Given the description of an element on the screen output the (x, y) to click on. 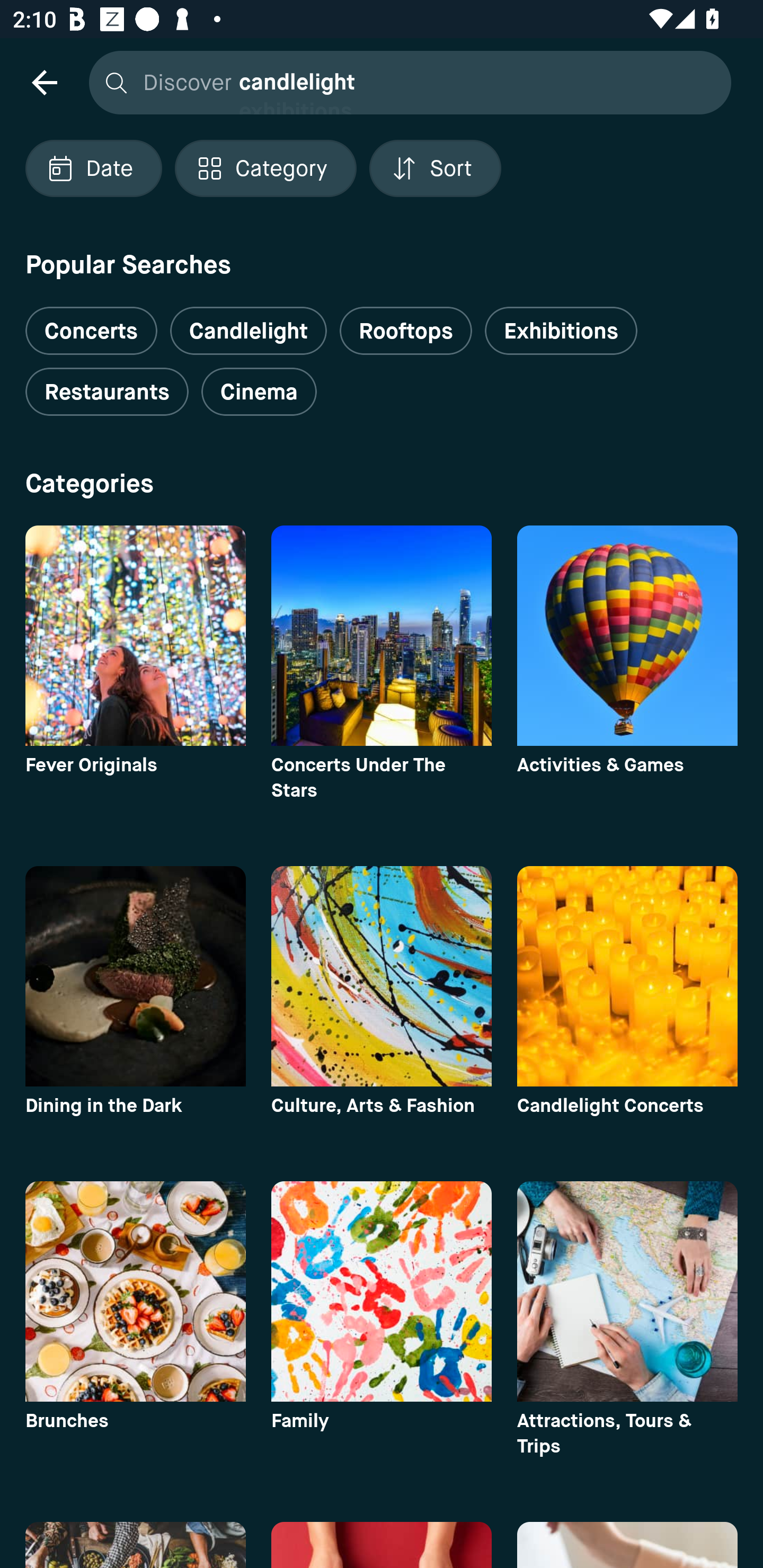
navigation icon (44, 81)
Discover candlelight (405, 81)
Localized description Date (93, 168)
Localized description Category (265, 168)
Localized description Sort (435, 168)
Concerts (91, 323)
Candlelight (248, 330)
Rooftops (405, 330)
Exhibitions (560, 330)
Restaurants (106, 391)
Cinema (258, 391)
category image (135, 635)
category image (381, 635)
category image (627, 635)
category image (135, 975)
category image (381, 975)
category image (627, 975)
category image (135, 1290)
category image (381, 1290)
category image (627, 1290)
